Given the description of an element on the screen output the (x, y) to click on. 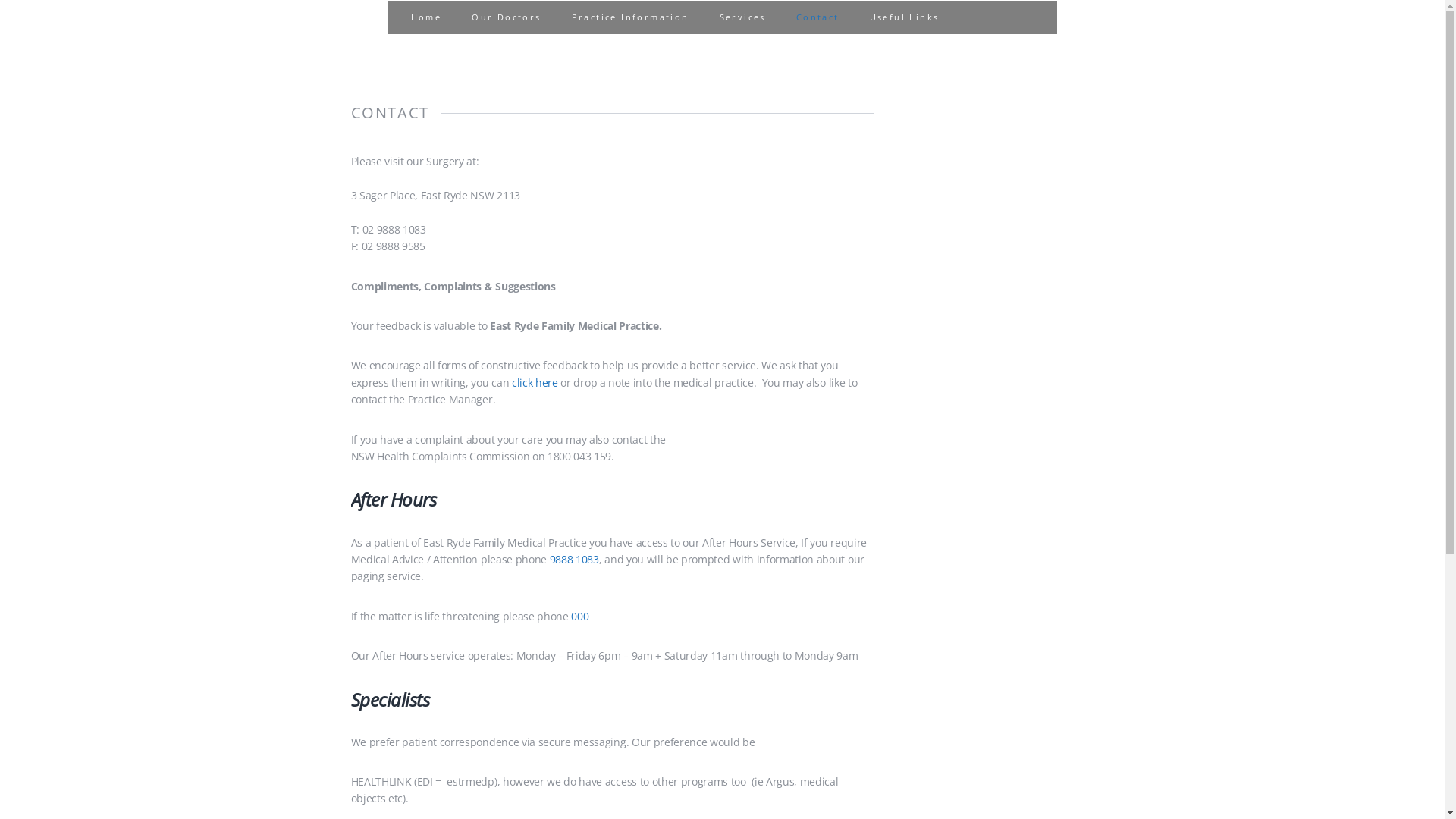
Useful Links Element type: text (904, 17)
000 Element type: text (579, 615)
click here Element type: text (534, 382)
Services Element type: text (742, 17)
Practice Information Element type: text (630, 17)
Contact Element type: text (817, 17)
9888 1083 Element type: text (574, 559)
Home Element type: text (426, 17)
Our Doctors Element type: text (506, 17)
